Given the description of an element on the screen output the (x, y) to click on. 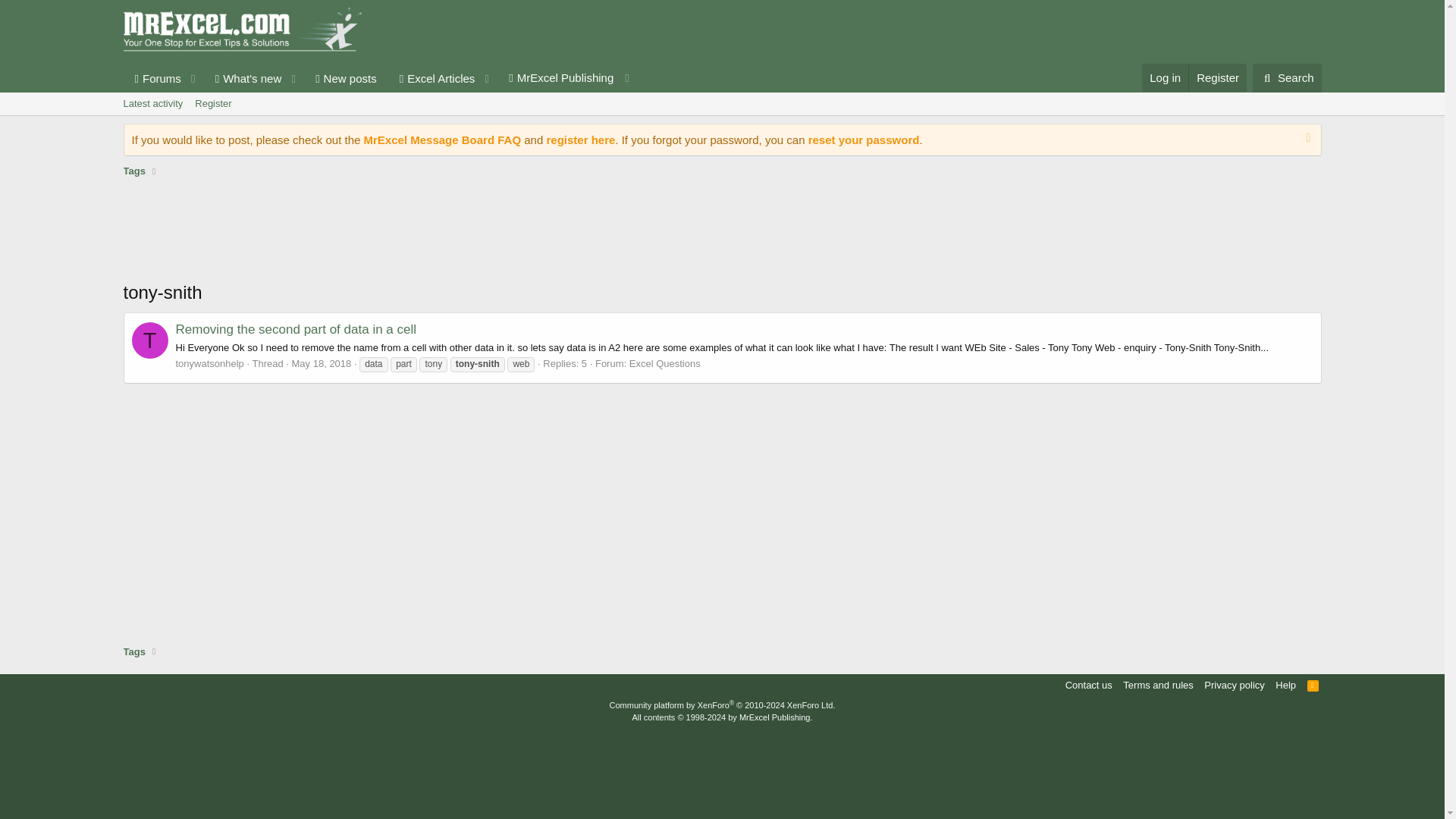
MrExcel Publishing (567, 77)
New posts (346, 78)
What's new (242, 78)
Latest activity (152, 103)
Search (1287, 77)
RSS (1313, 685)
register here (580, 139)
Search (1287, 77)
